Given the description of an element on the screen output the (x, y) to click on. 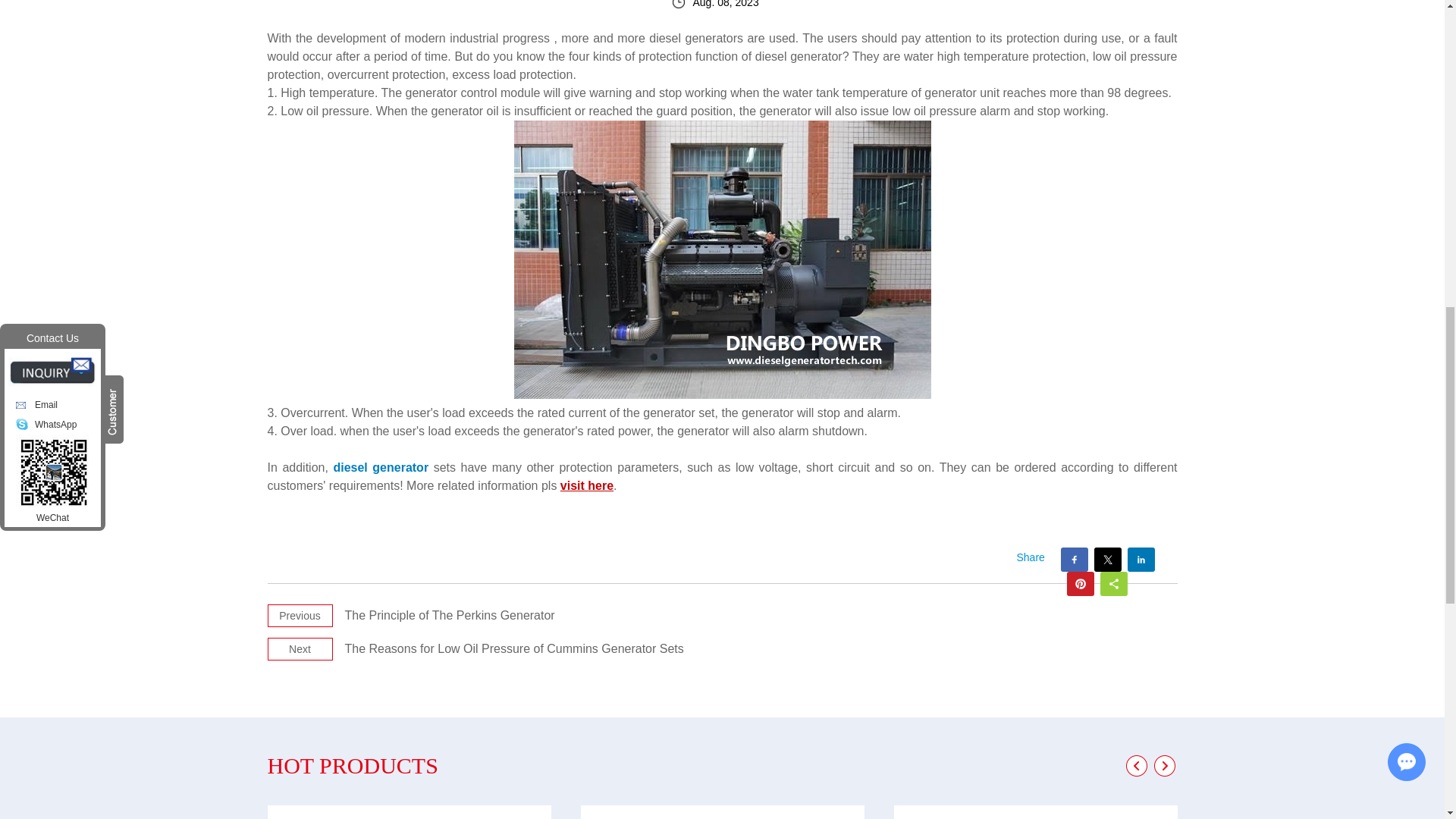
Diesel Generator Price (586, 485)
Shangchai power generator (722, 259)
Diesel Generator (380, 467)
68KW 85KVA Volvo Diesel Generator Set (408, 812)
24KW 30KVA Cummins Diesel Generator Set (722, 812)
Diesel Generator (722, 394)
